Given the description of an element on the screen output the (x, y) to click on. 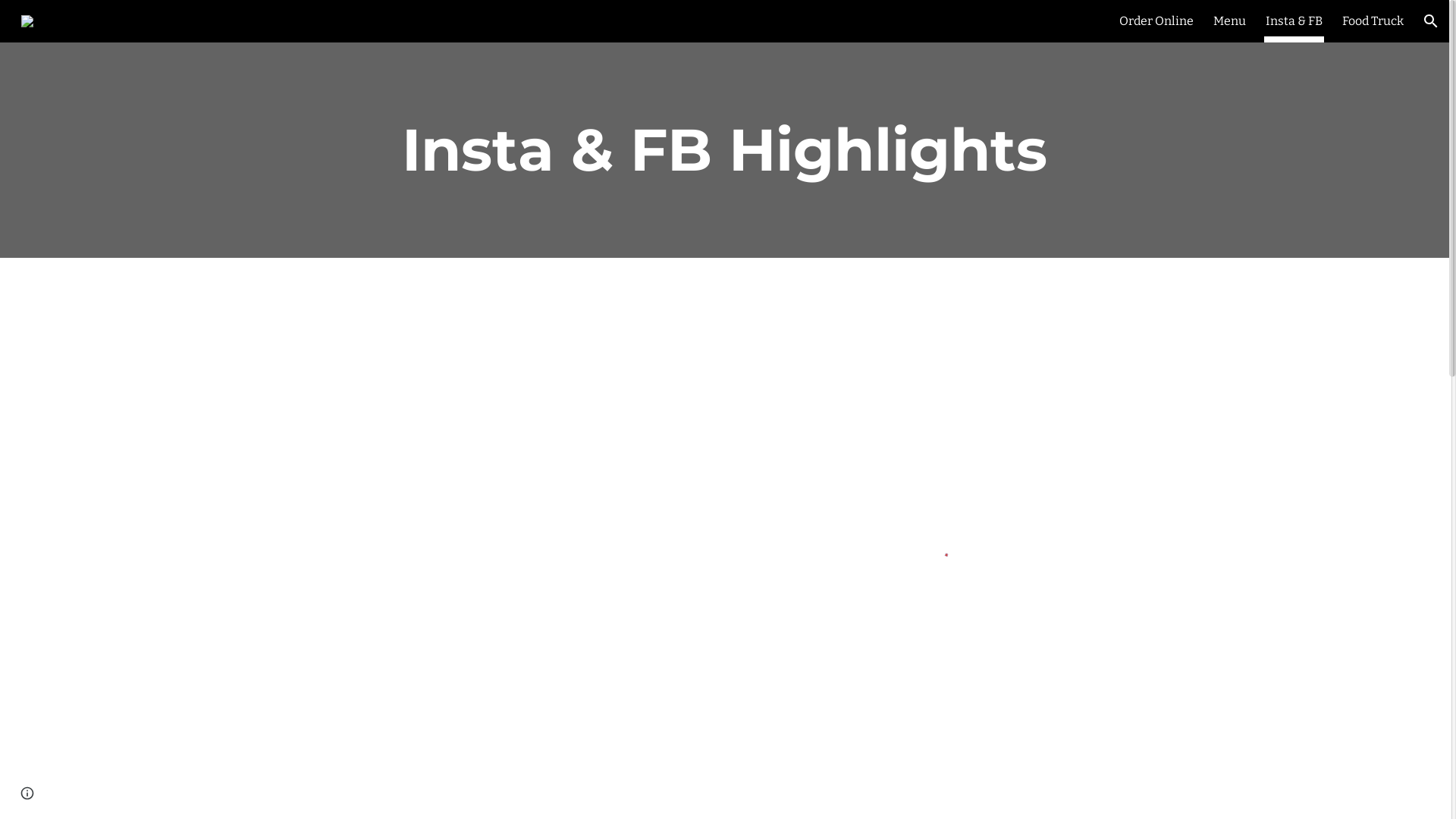
Food Truck Element type: text (1372, 20)
Menu Element type: text (1229, 20)
Custom embed Element type: hover (948, 545)
Insta & FB Element type: text (1293, 20)
Order Online Element type: text (1156, 20)
